Given the description of an element on the screen output the (x, y) to click on. 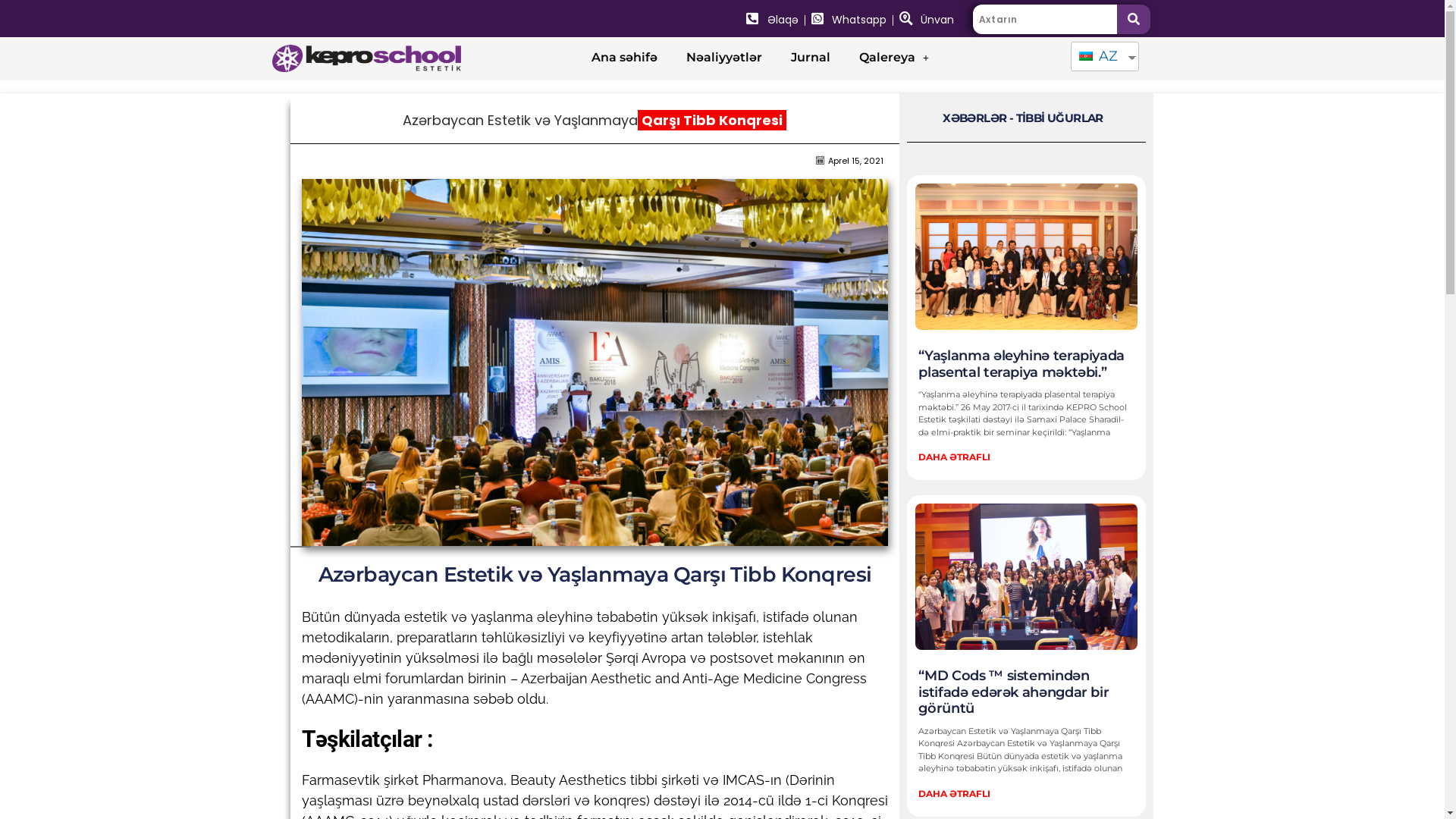
Whatsapp Element type: text (849, 19)
Aprel 15, 2021 Element type: text (849, 161)
Qalereya Element type: text (893, 57)
AZ Element type: text (1099, 56)
Jurnal Element type: text (810, 57)
Search Element type: hover (1044, 19)
Azerbaijani Element type: hover (1085, 55)
